Given the description of an element on the screen output the (x, y) to click on. 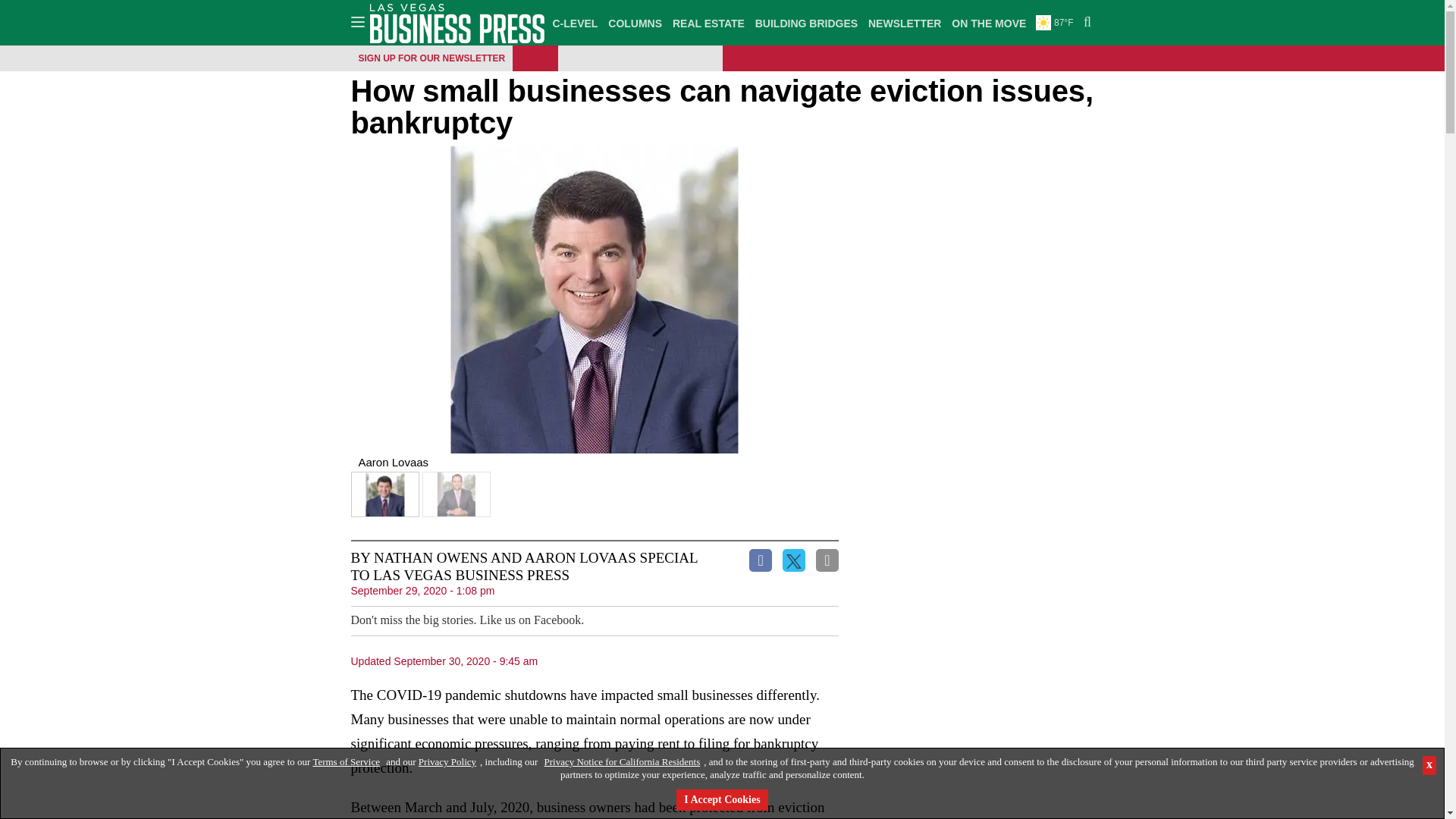
COLUMNS (634, 22)
BUILDING BRIDGES (806, 22)
C-LEVEL (575, 22)
NEWSLETTER (904, 22)
REAL ESTATE (708, 22)
Search (1085, 22)
ON THE MOVE (988, 22)
